Given the description of an element on the screen output the (x, y) to click on. 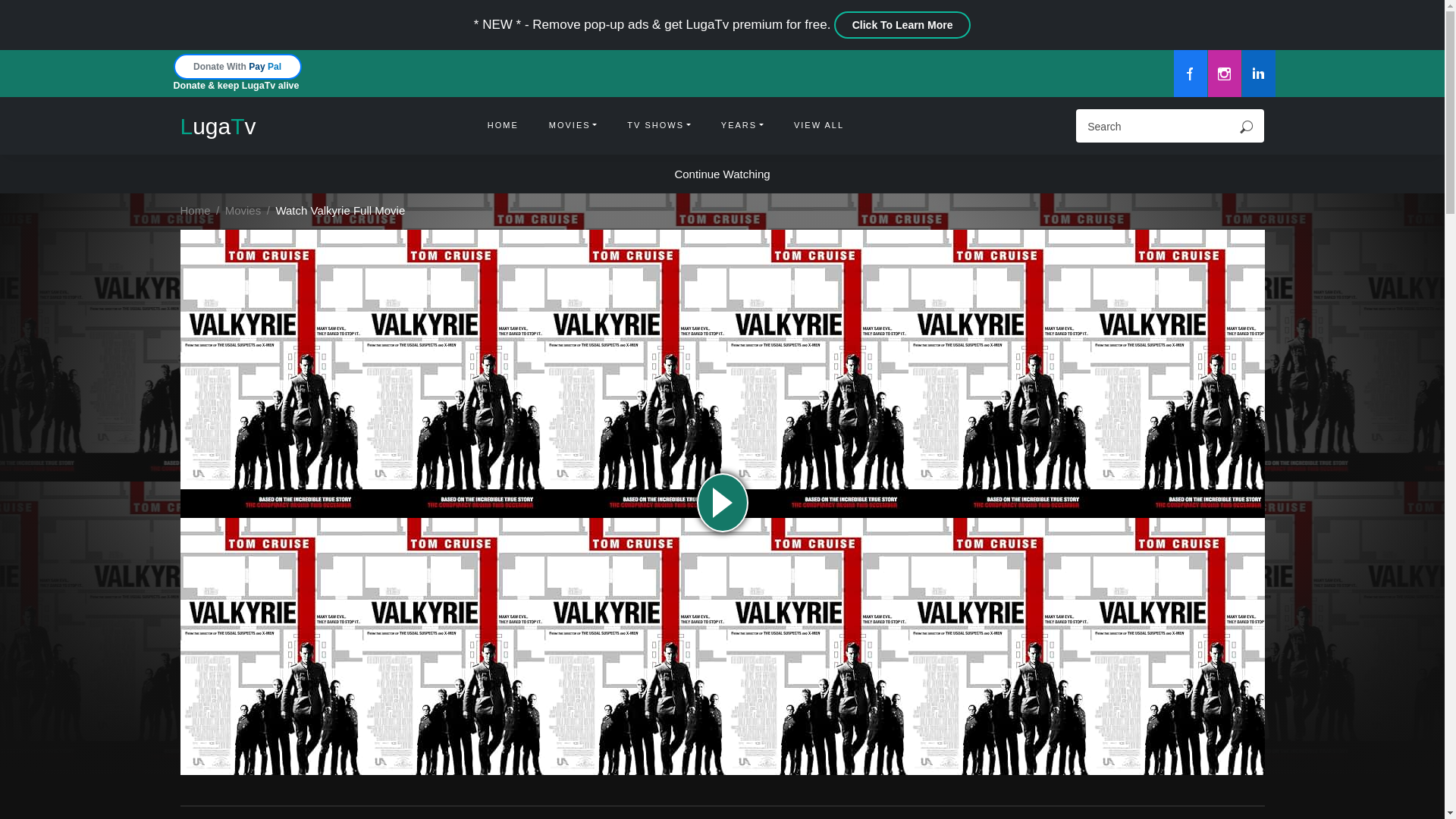
Movies (243, 210)
TV SHOWS (657, 125)
MOVIES (573, 125)
. (1245, 126)
Donate With Pay Pal (237, 66)
LugaTv (218, 125)
Click To Learn More (902, 24)
HOME (502, 125)
